Given the description of an element on the screen output the (x, y) to click on. 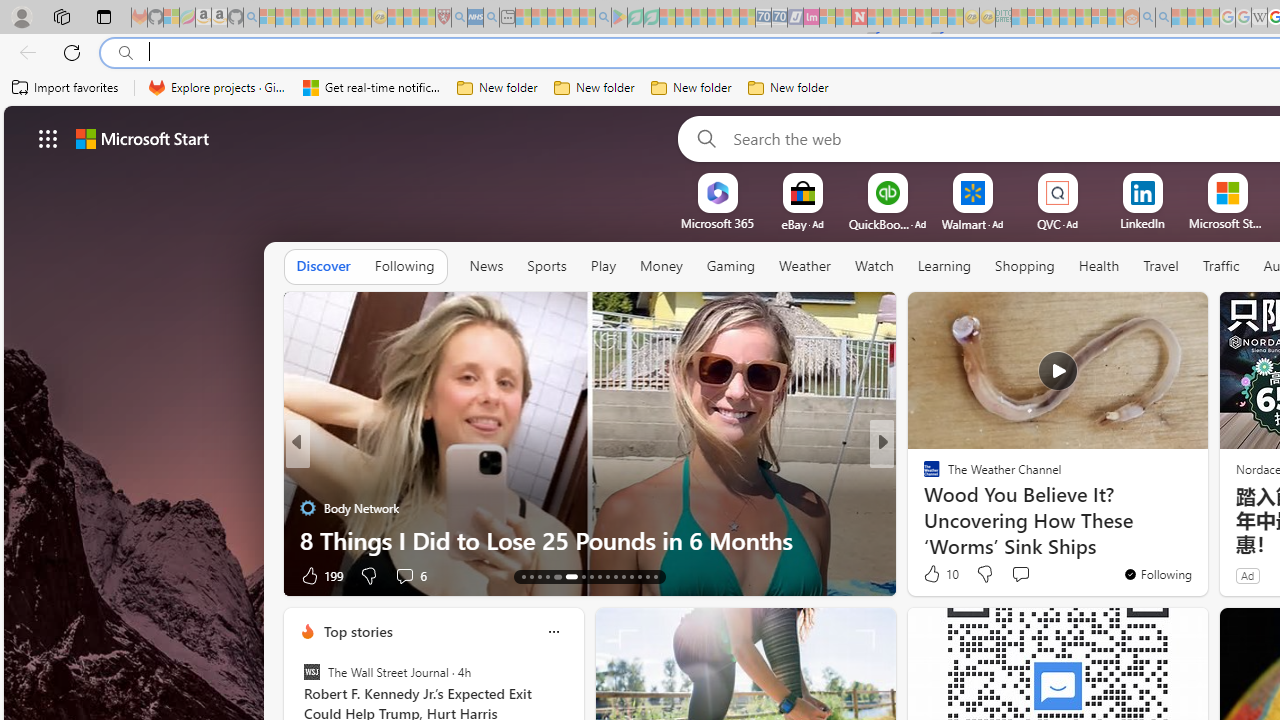
AutomationID: tab-24 (623, 576)
View comments 2 Comment (1019, 574)
View comments 543 Comment (1025, 574)
Health (1098, 267)
AutomationID: tab-14 (531, 576)
AutomationID: tab-22 (606, 576)
The Independent (923, 475)
Secret History (923, 507)
Learning (944, 265)
